Given the description of an element on the screen output the (x, y) to click on. 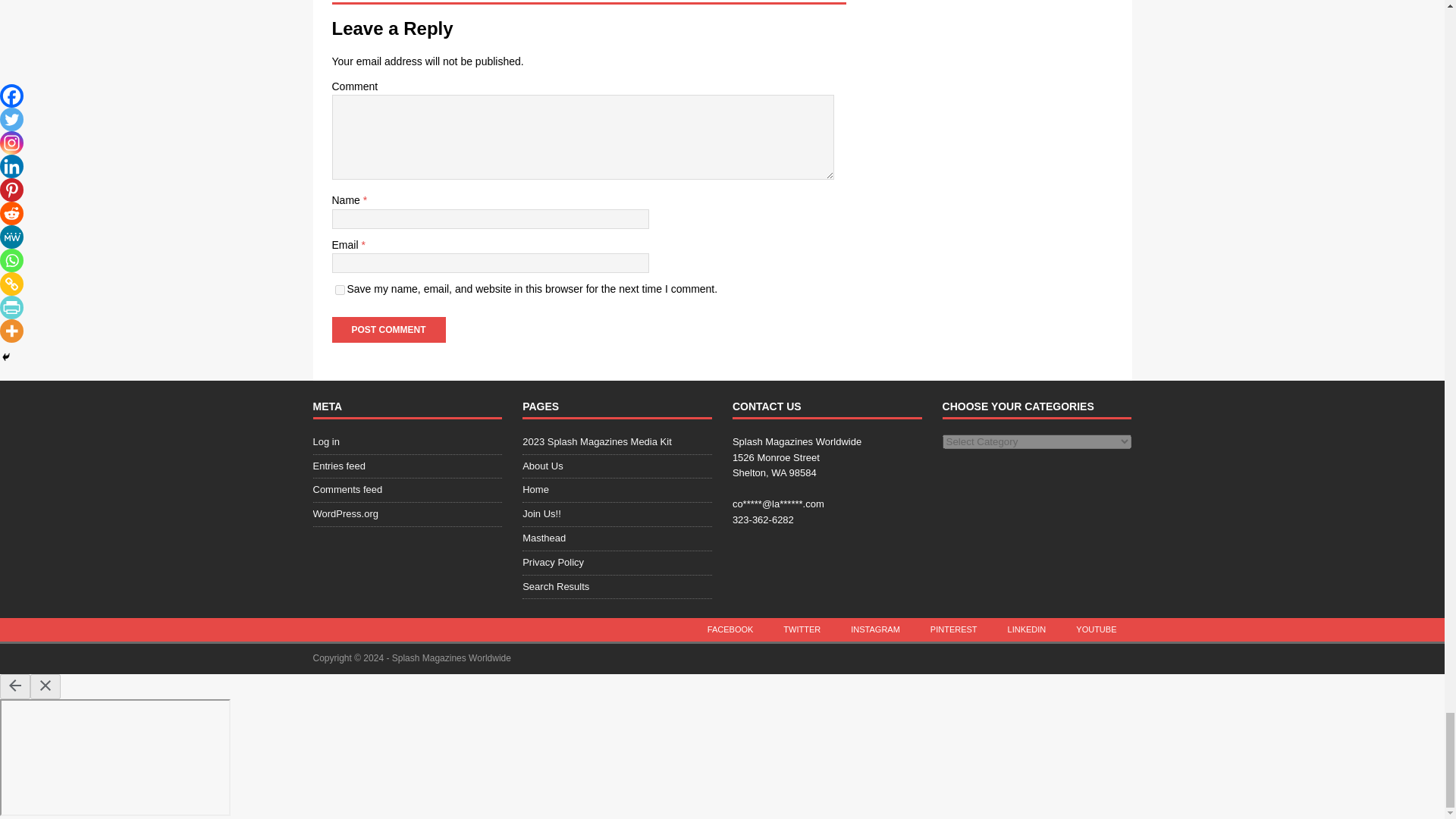
yes (339, 289)
Post Comment (388, 329)
